Given the description of an element on the screen output the (x, y) to click on. 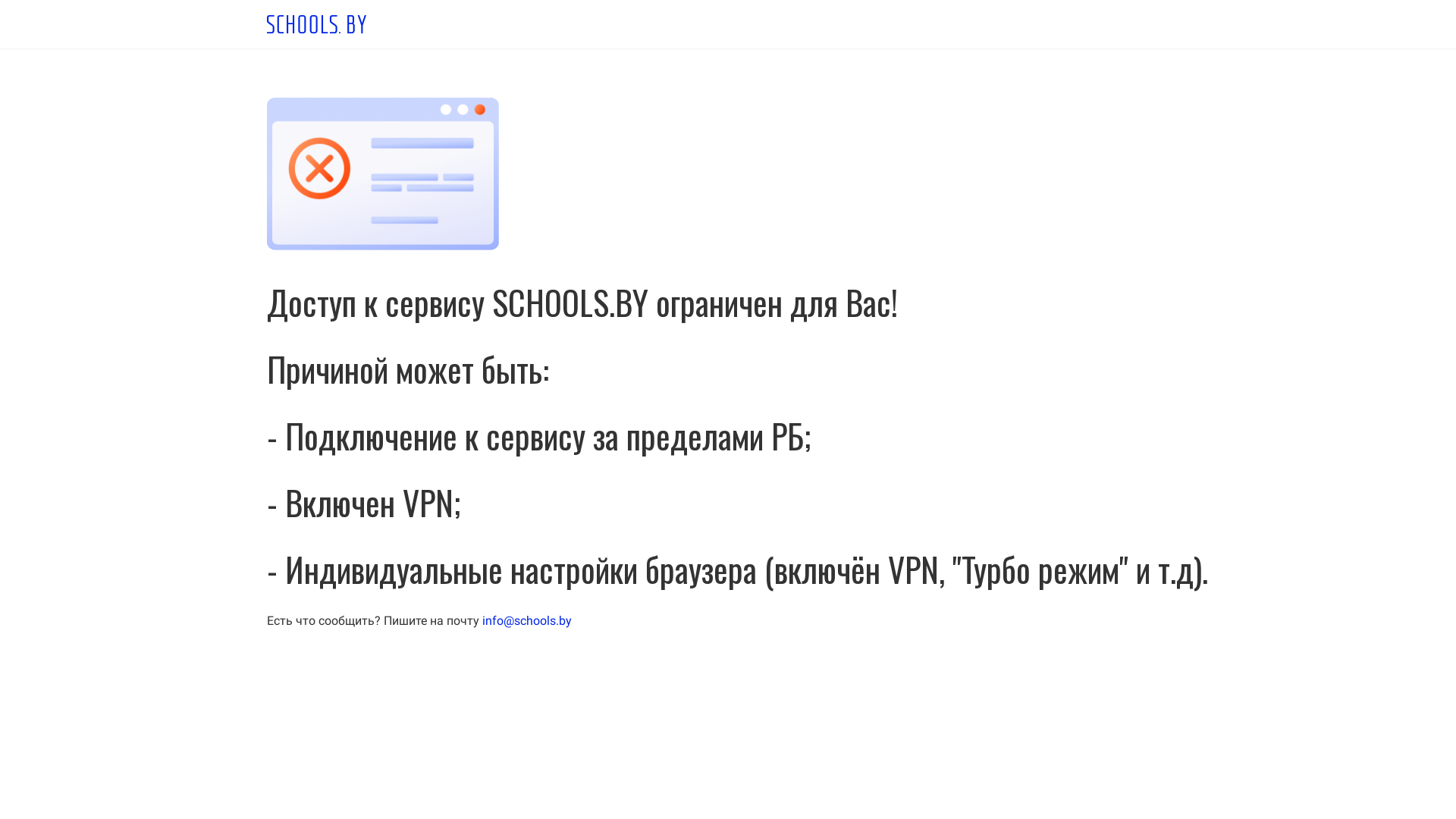
info@schools.by Element type: text (526, 620)
